Given the description of an element on the screen output the (x, y) to click on. 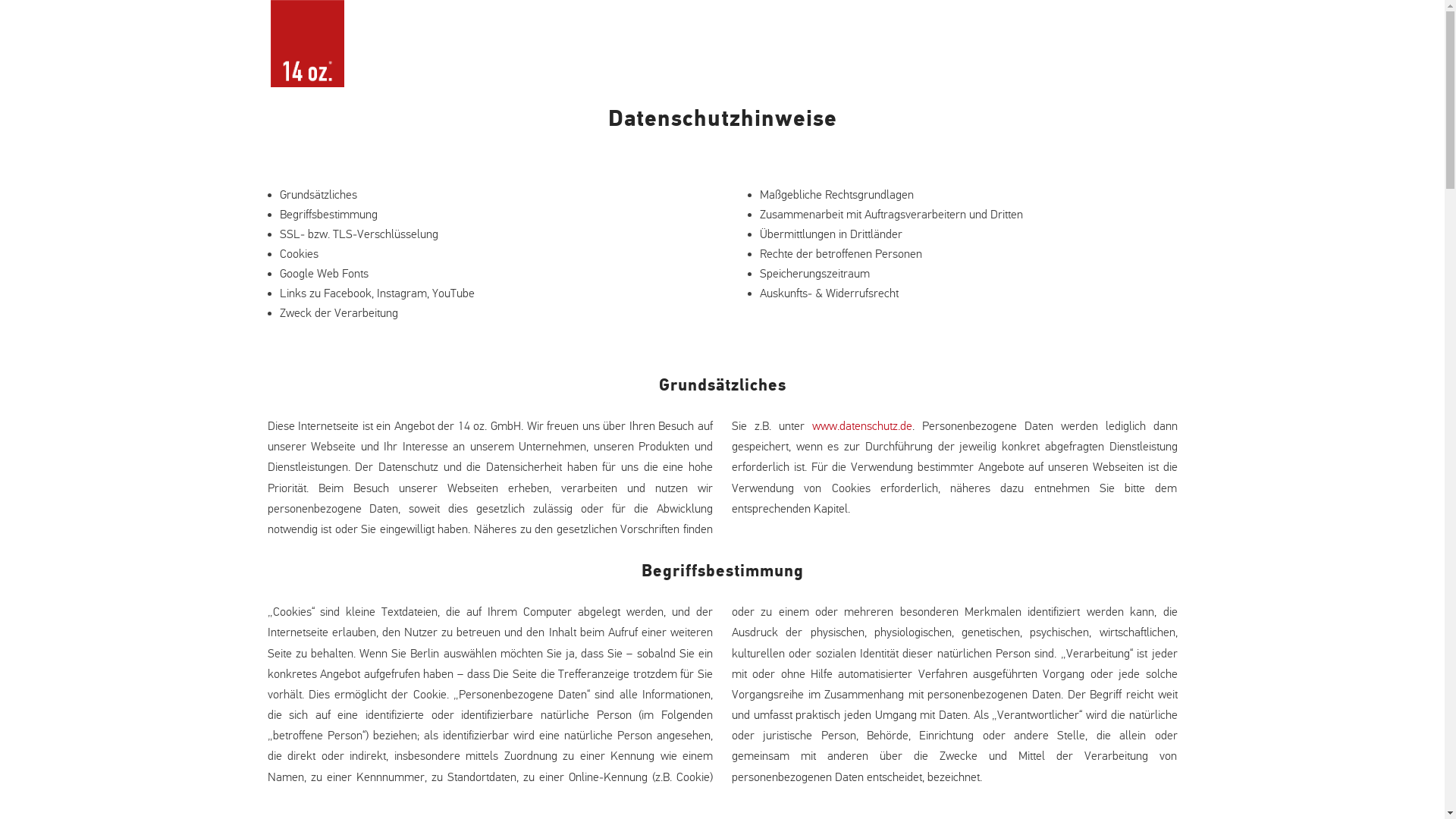
BRANDS Element type: text (1034, 61)
CONCEPT Element type: text (956, 61)
CONTACT Element type: text (1111, 61)
www.datenschutz.de Element type: text (862, 425)
HOME Element type: text (817, 61)
STORES Element type: text (881, 61)
